Given the description of an element on the screen output the (x, y) to click on. 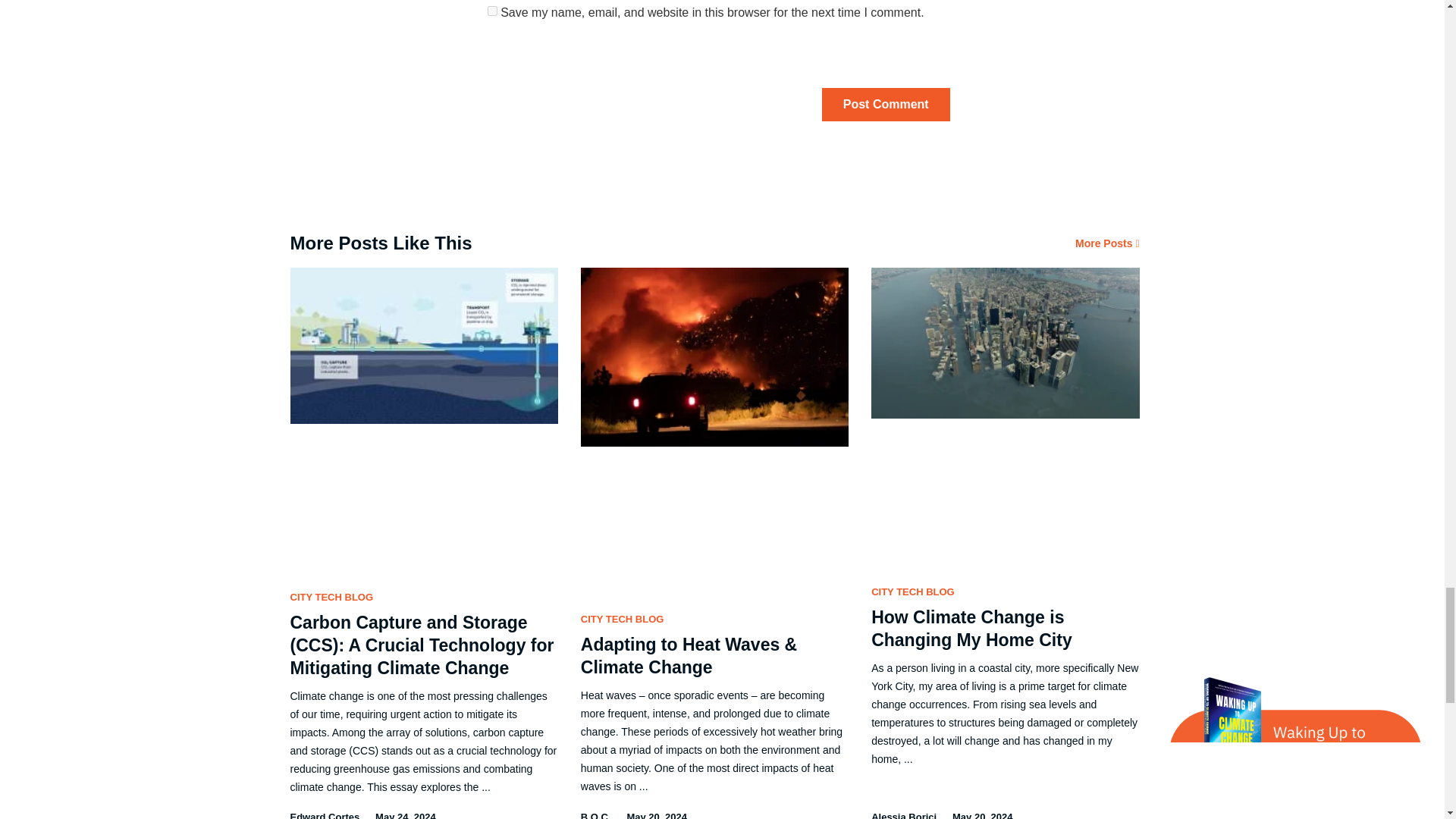
Post Comment (886, 104)
Post Comment (886, 104)
How Climate Change is Changing My Home City (970, 628)
More Posts (1106, 243)
yes (492, 10)
